Given the description of an element on the screen output the (x, y) to click on. 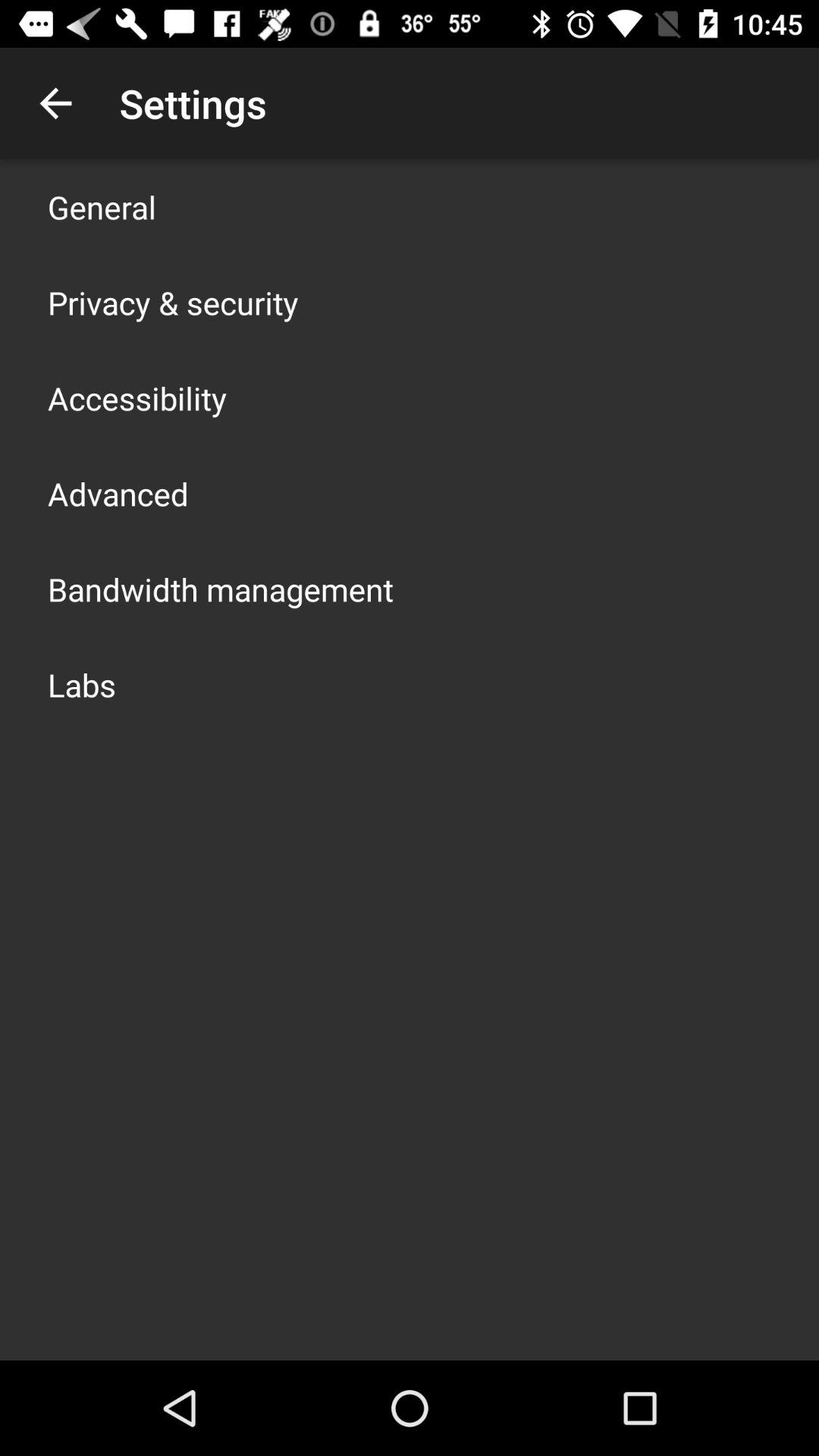
choose labs (81, 684)
